Given the description of an element on the screen output the (x, y) to click on. 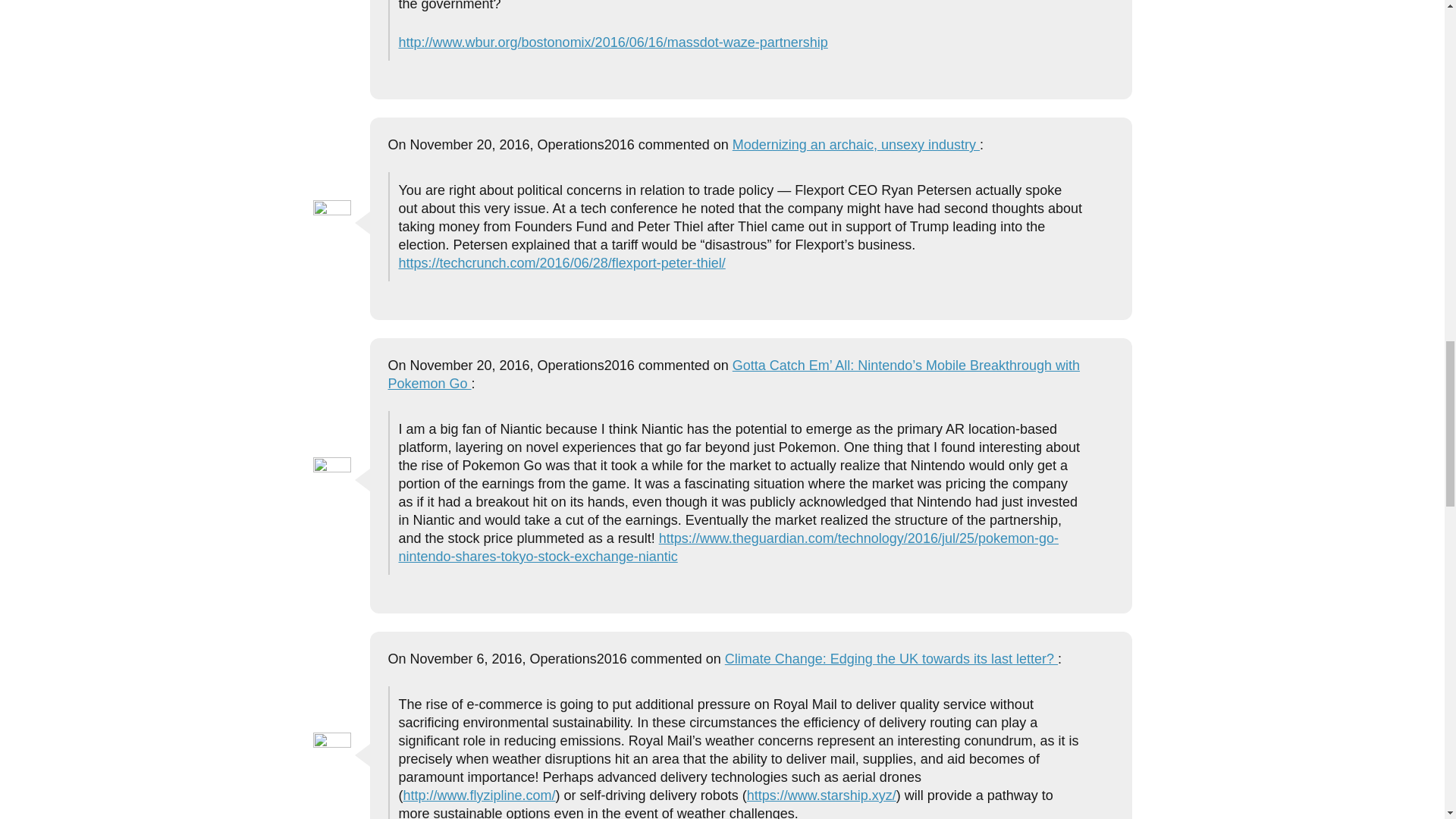
Climate Change: Edging the UK towards its last letter? (891, 658)
Modernizing an archaic, unsexy industry (855, 144)
